Given the description of an element on the screen output the (x, y) to click on. 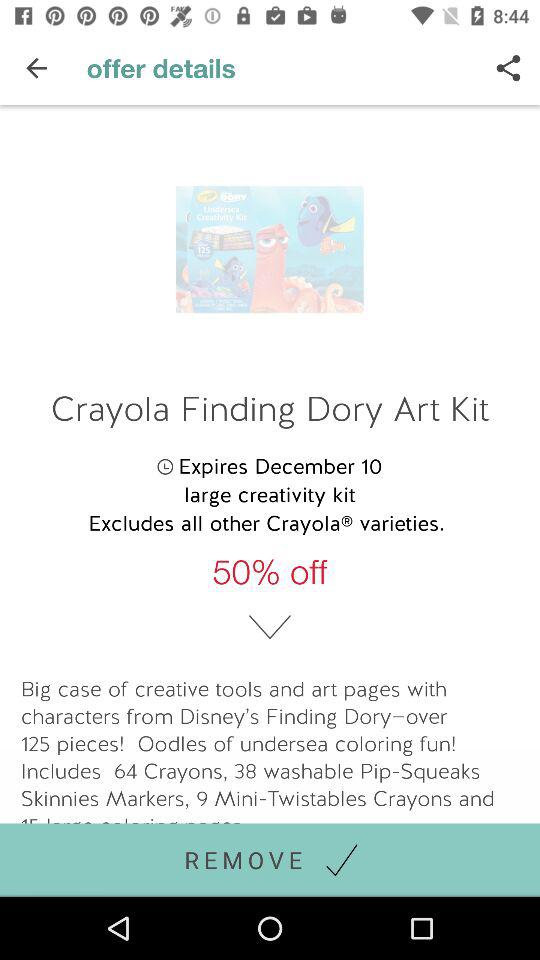
select the icon next to offer details icon (508, 67)
